Given the description of an element on the screen output the (x, y) to click on. 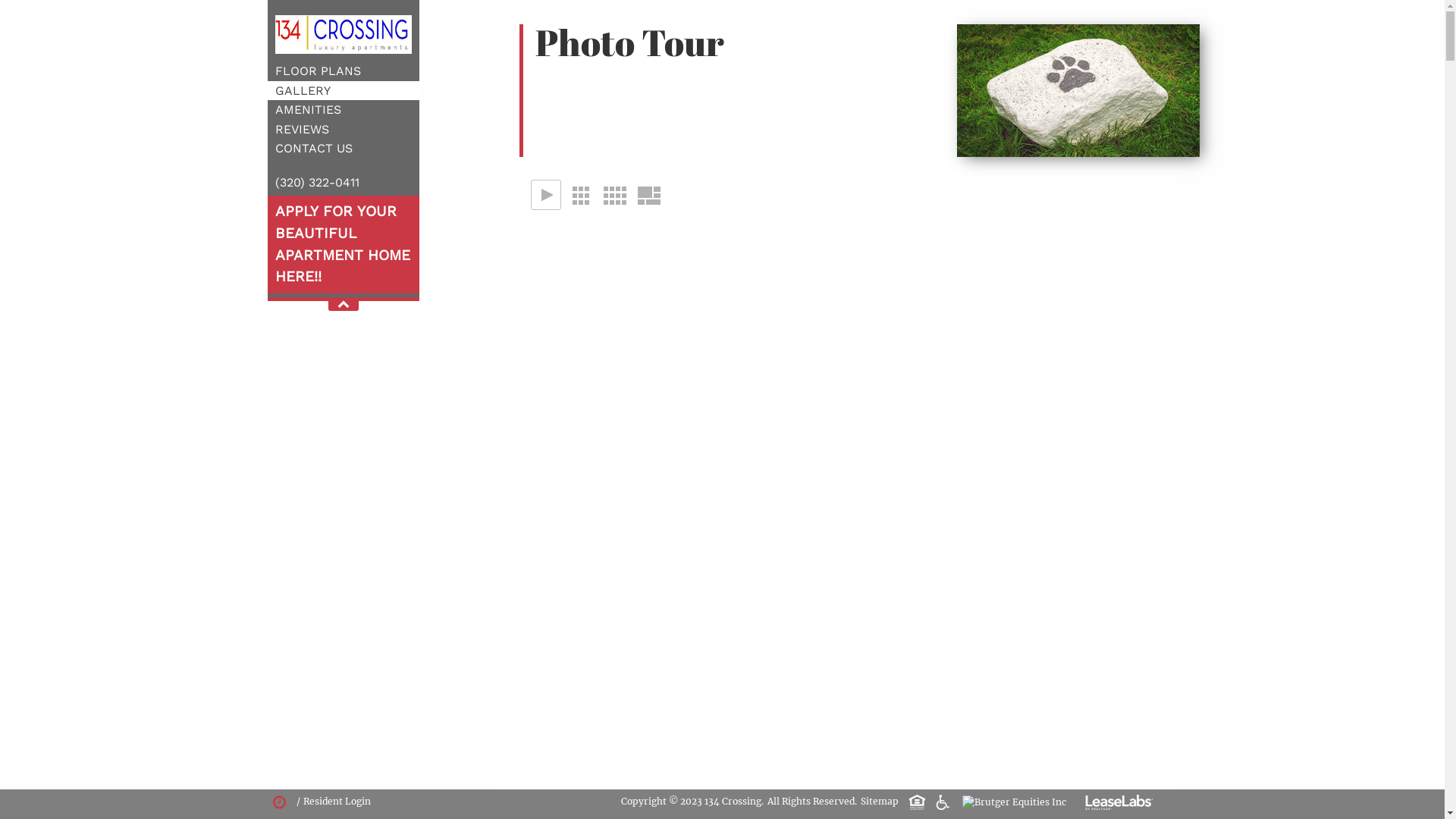
Mosaic Element type: text (647, 194)
134 Crossing Element type: hover (342, 38)
HUD Element type: hover (918, 800)
ADA Element type: hover (944, 800)
CONTACT US Element type: text (312, 148)
GALLERY Element type: text (301, 90)
image/svg+xml Element type: text (1119, 806)
Sitemap Element type: text (878, 800)
4 Columns Element type: text (614, 194)
APPLY FOR YOUR BEAUTIFUL APARTMENT HOME HERE!! Element type: text (341, 243)
AMENITIES Element type: text (307, 109)
Play Slideshow Element type: text (545, 194)
Resident Login Element type: text (336, 800)
REVIEWS Element type: text (301, 129)
(320) 322-0411 Element type: text (316, 182)
Brutger Equities Inc Element type: hover (1013, 801)
3 Columns Element type: text (579, 194)
FLOOR PLANS Element type: text (317, 70)
